Given the description of an element on the screen output the (x, y) to click on. 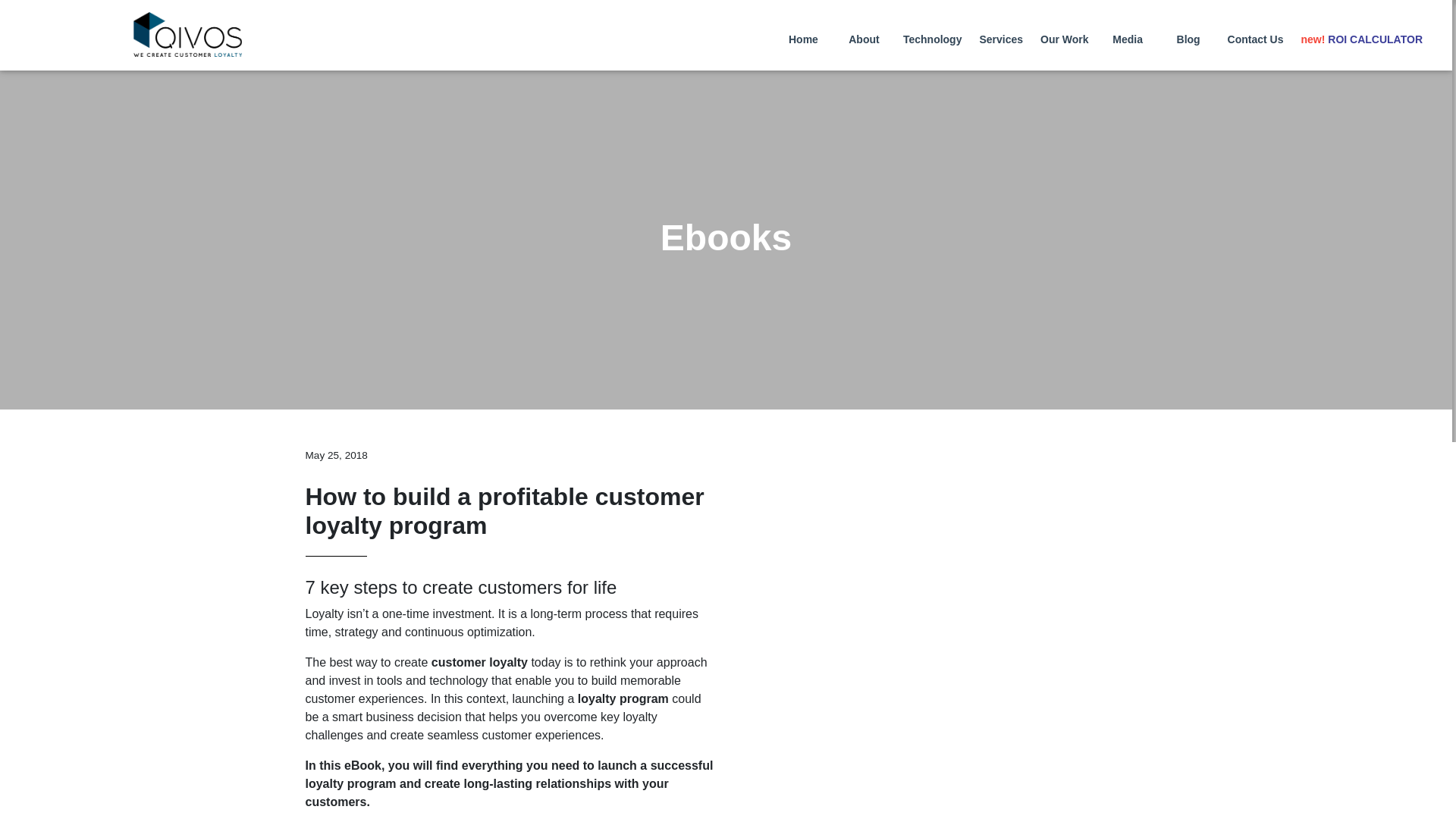
Home (800, 37)
Blog (1185, 37)
Our Work (1061, 37)
Technology (929, 37)
new! ROI CALCULATOR (1359, 37)
Services (998, 37)
Contact Us (1252, 37)
About (861, 37)
Media (1125, 37)
